Given the description of an element on the screen output the (x, y) to click on. 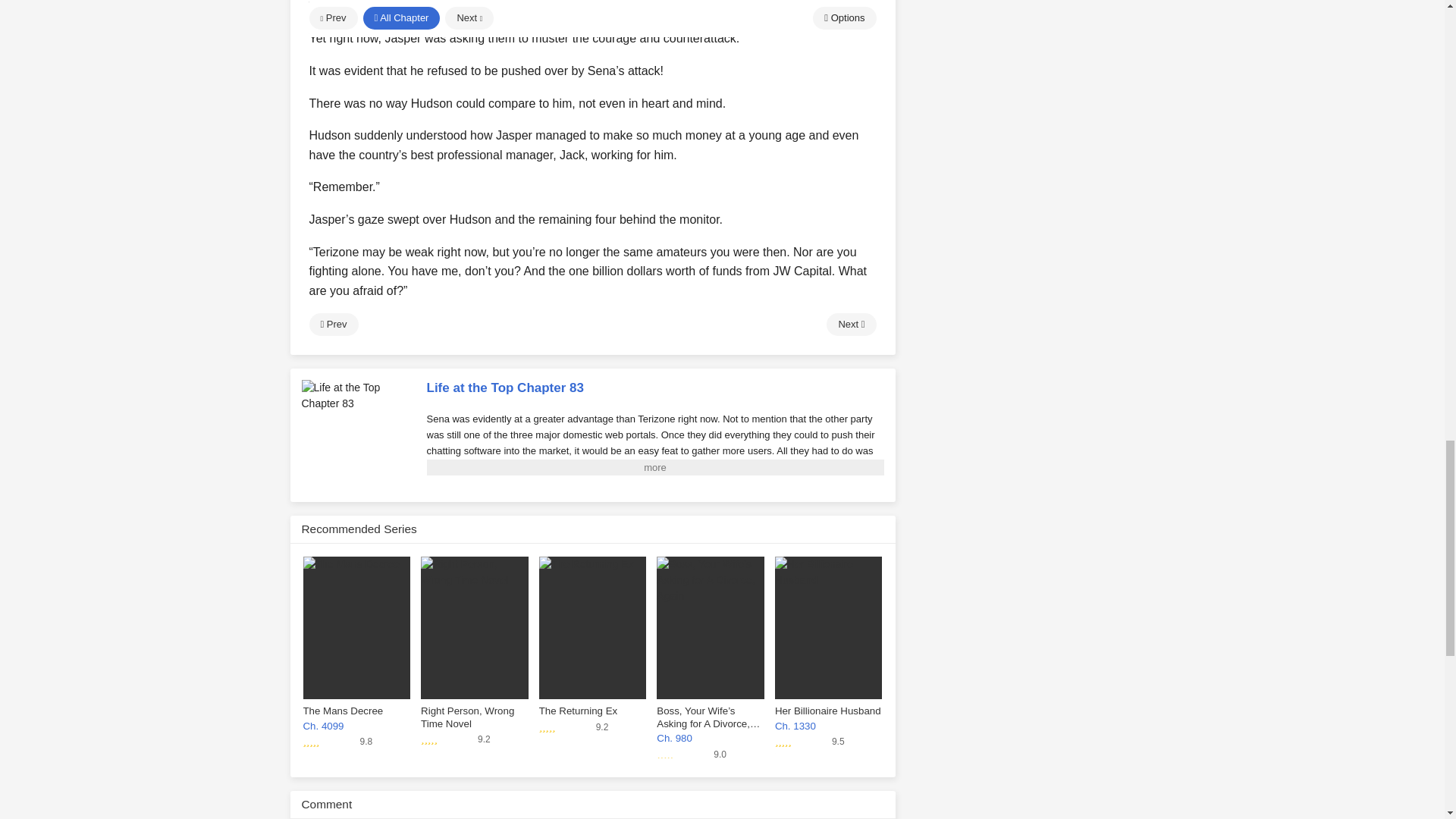
Next (851, 323)
Life at the Top Chapter 83 (357, 395)
Prev (333, 323)
